Given the description of an element on the screen output the (x, y) to click on. 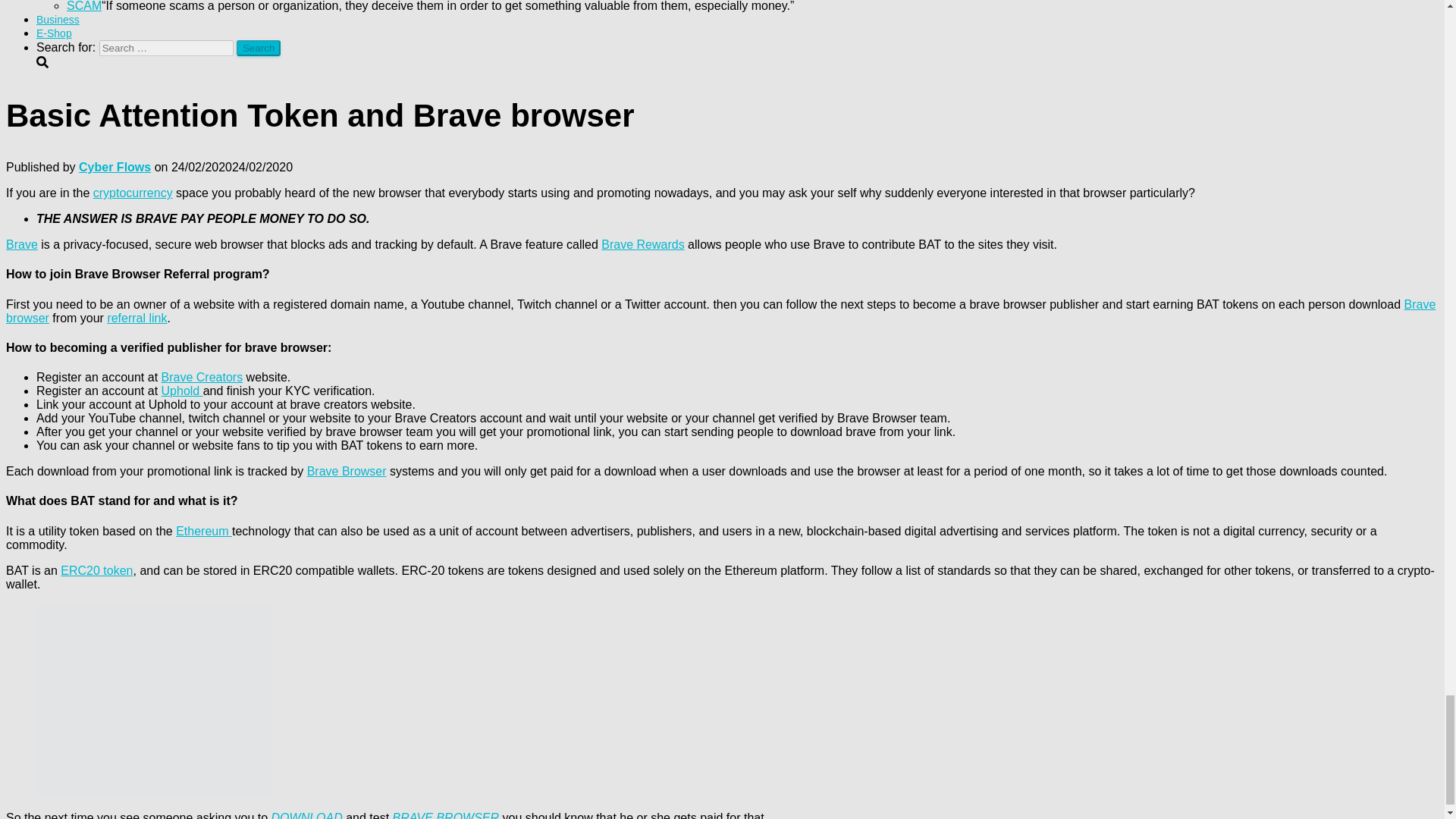
Business (58, 19)
Search (258, 48)
Brave Rewards (642, 244)
Brave (21, 244)
Brave Creators (202, 377)
SCAM (83, 6)
Brave Browser (347, 471)
E-Shop (53, 33)
Search (258, 48)
cryptocurrency (133, 192)
Ethereum (203, 530)
referral link (136, 318)
ERC20 token (96, 570)
Cyber Flows (114, 166)
Search (258, 48)
